Given the description of an element on the screen output the (x, y) to click on. 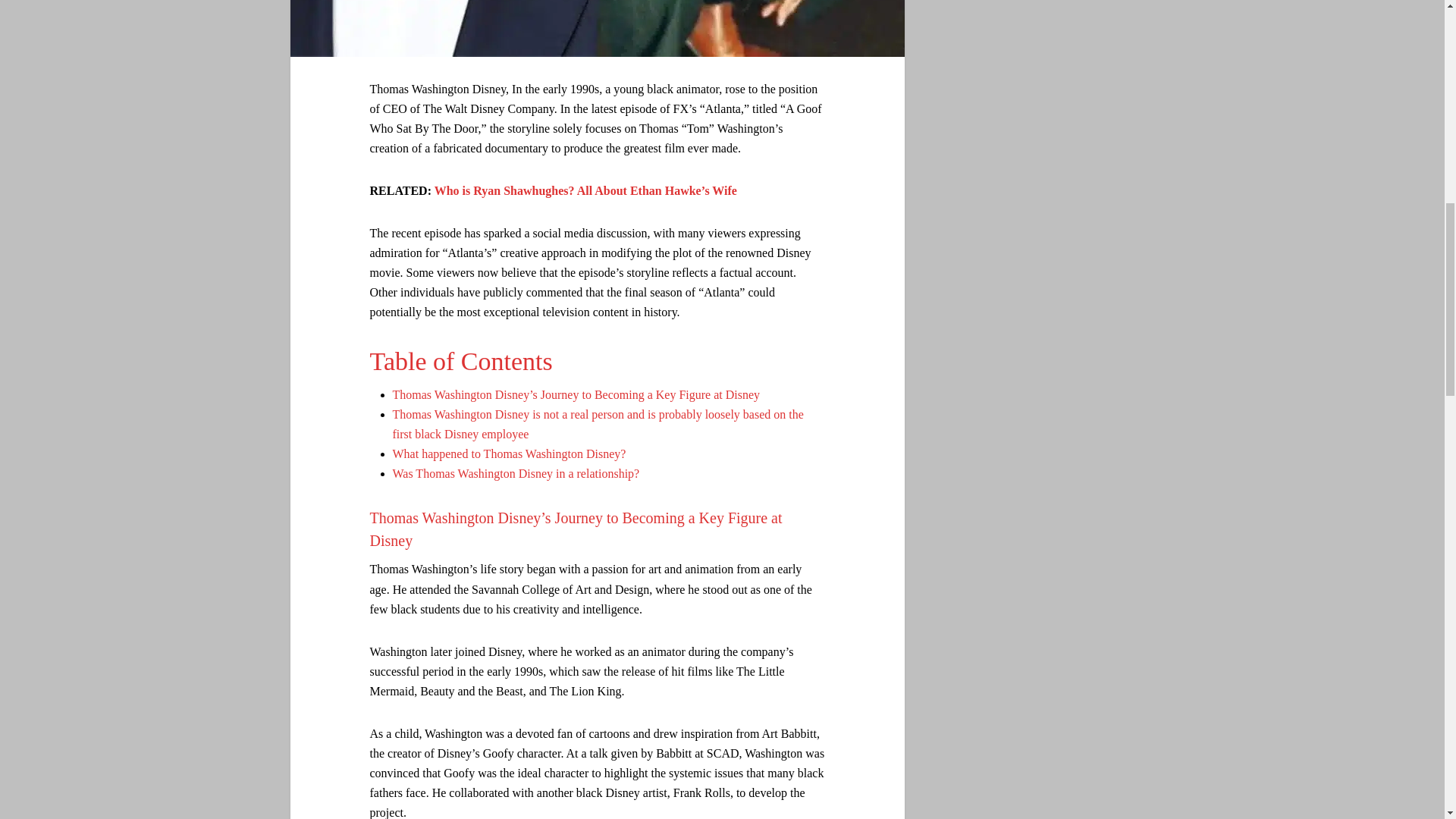
What happened to Thomas Washington Disney? (509, 453)
Was Thomas Washington Disney in a relationship? (516, 472)
